Given the description of an element on the screen output the (x, y) to click on. 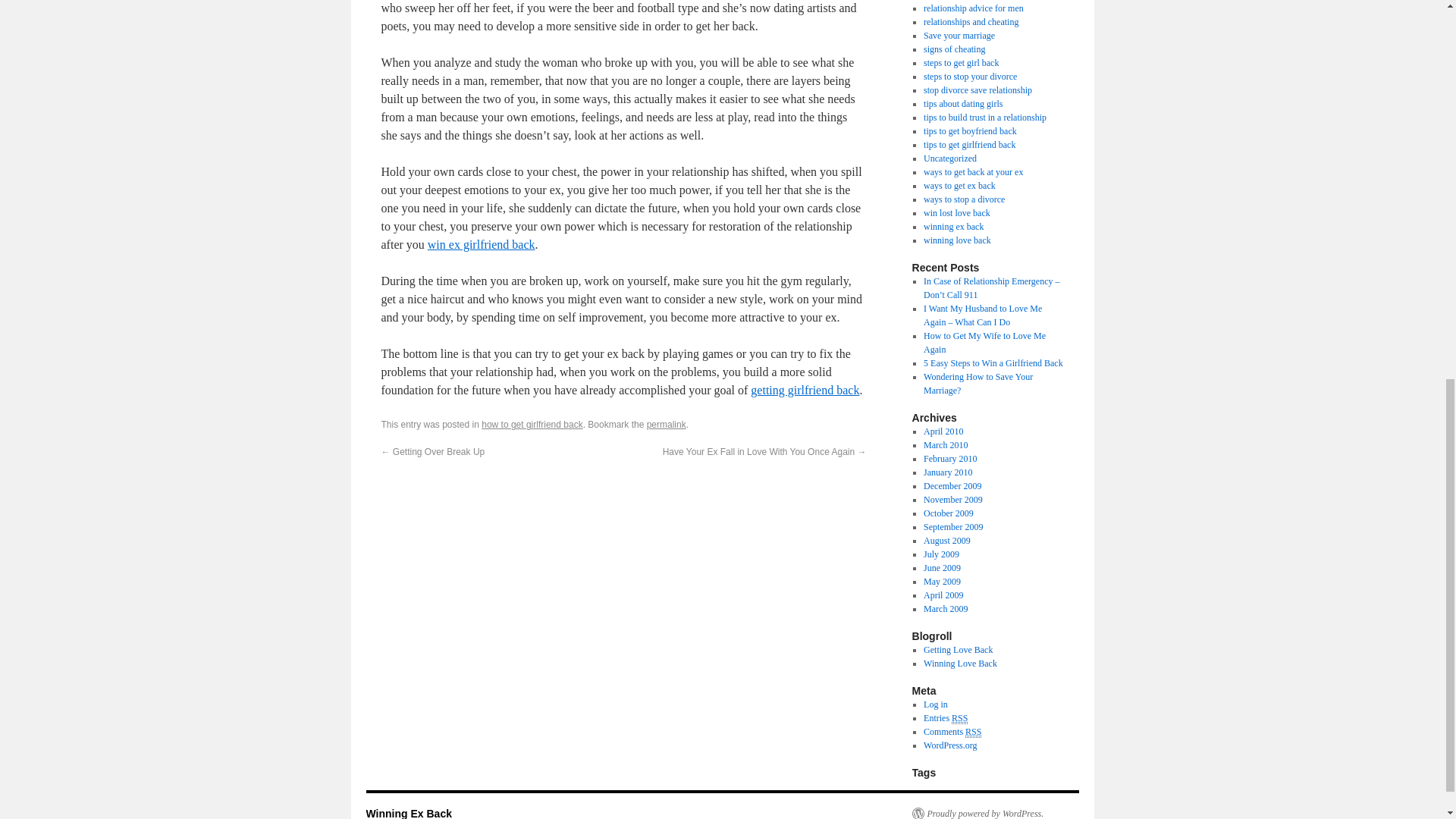
View all posts in how to get girlfriend back (531, 424)
how to get girlfriend back (531, 424)
win ex girlfriend back (481, 244)
permalink (665, 424)
getting girlfriend back (805, 390)
